Given the description of an element on the screen output the (x, y) to click on. 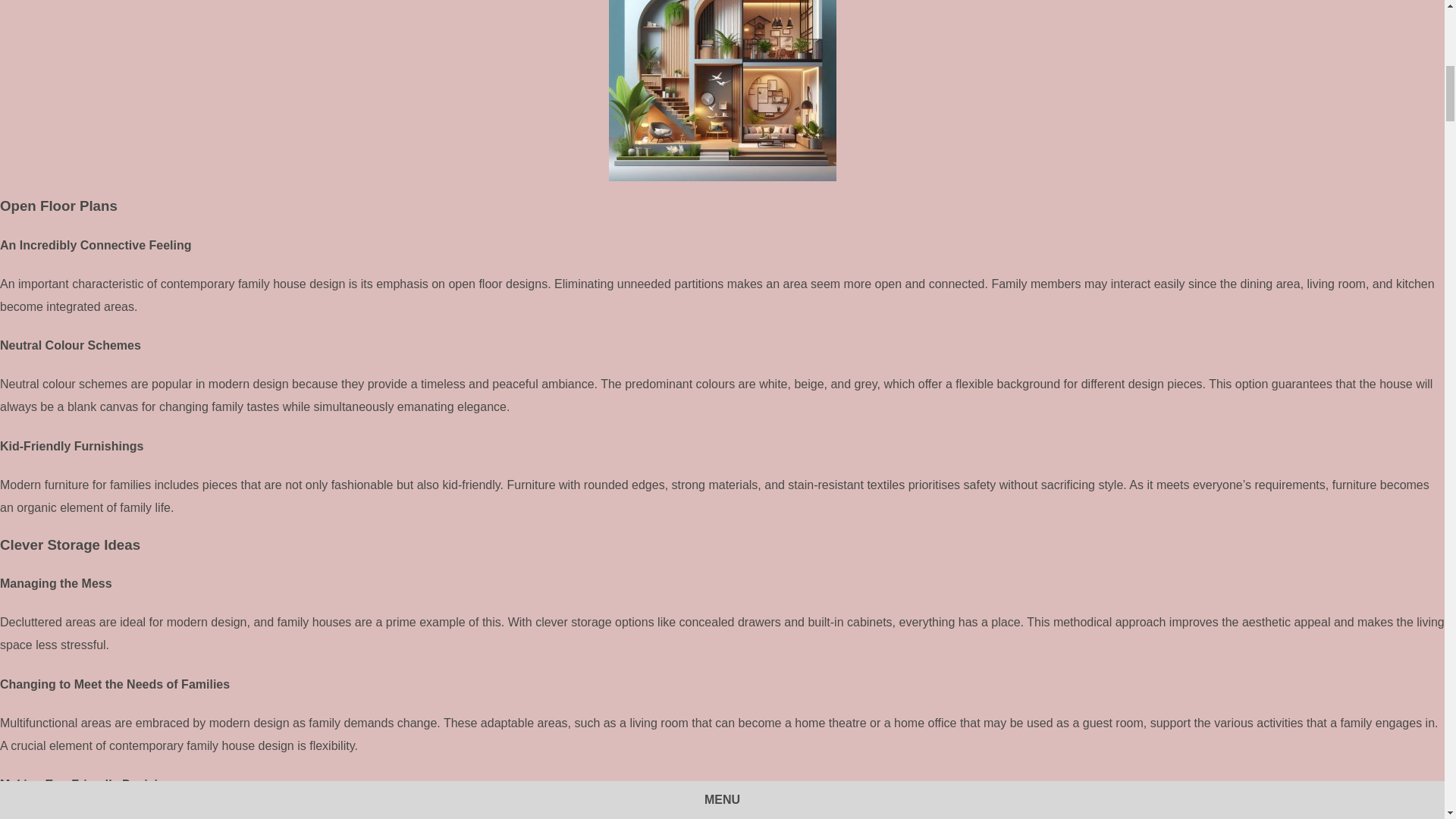
ABOUT (963, 359)
CONTACT (1105, 359)
RESIDENTIAL (624, 359)
COMMERCIAL (807, 359)
PROJECTS (456, 359)
HOME (319, 359)
